Given the description of an element on the screen output the (x, y) to click on. 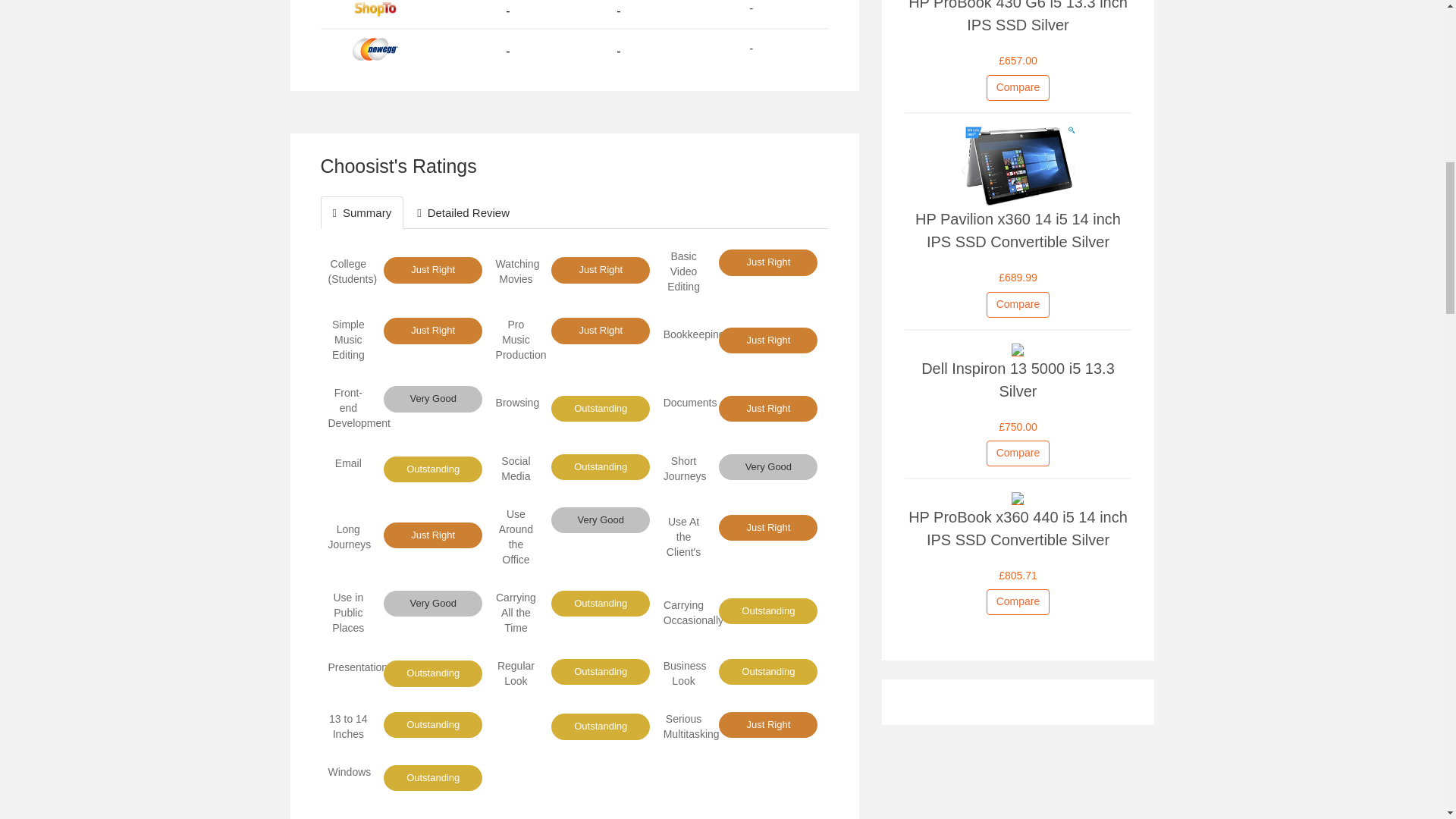
Bookkeeping (694, 334)
Summary (361, 212)
Detailed Review (462, 212)
Pro Music Production (521, 339)
Business Look (684, 673)
